Given the description of an element on the screen output the (x, y) to click on. 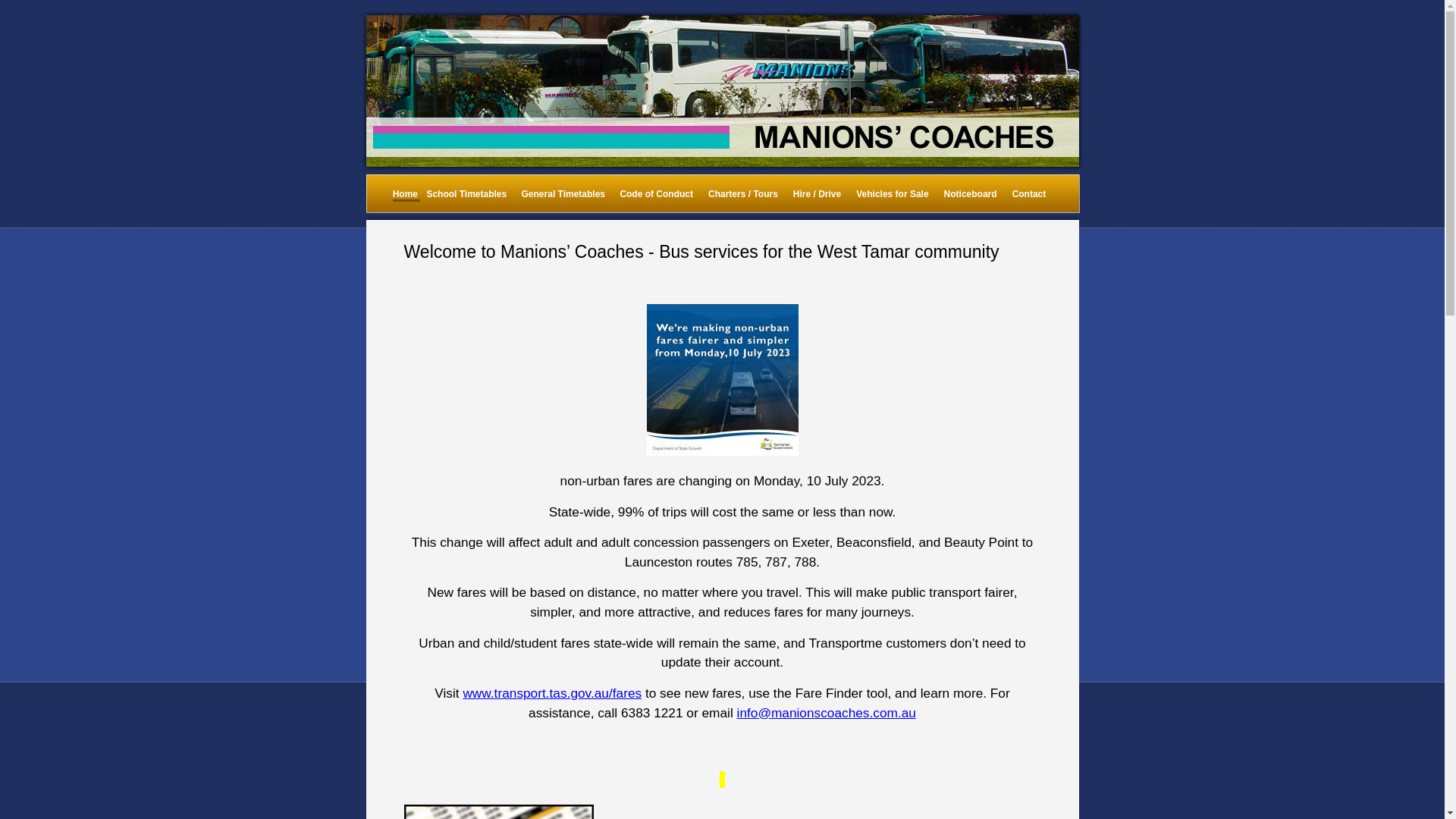
Code of Conduct Element type: text (656, 193)
Home Element type: text (404, 193)
School Timetables Element type: text (466, 193)
www.transport.tas.gov.au/fares Element type: text (551, 692)
Contact Element type: text (1029, 193)
Charters / Tours Element type: text (743, 193)
info@manionscoaches.com.au Element type: text (826, 712)
Hire / Drive Element type: text (816, 193)
General Timetables Element type: text (563, 193)
Noticeboard Element type: text (970, 193)
Vehicles for Sale Element type: text (892, 193)
